Given the description of an element on the screen output the (x, y) to click on. 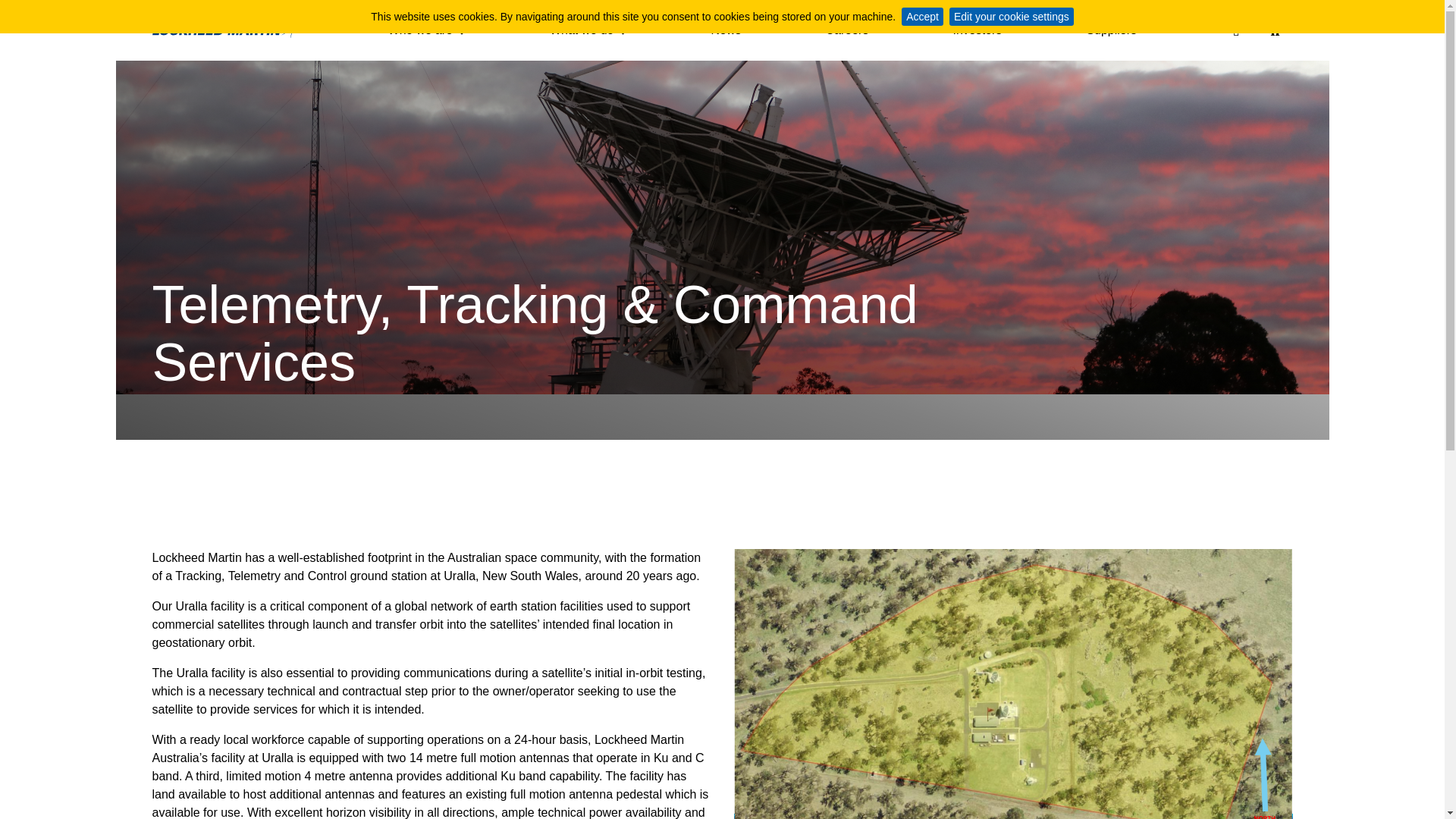
Edit your cookie settings (1011, 16)
News (725, 32)
What we do (588, 32)
Accept (922, 16)
Suppliers (1111, 32)
Investors (976, 32)
Careers (846, 32)
Who we are (426, 32)
